Given the description of an element on the screen output the (x, y) to click on. 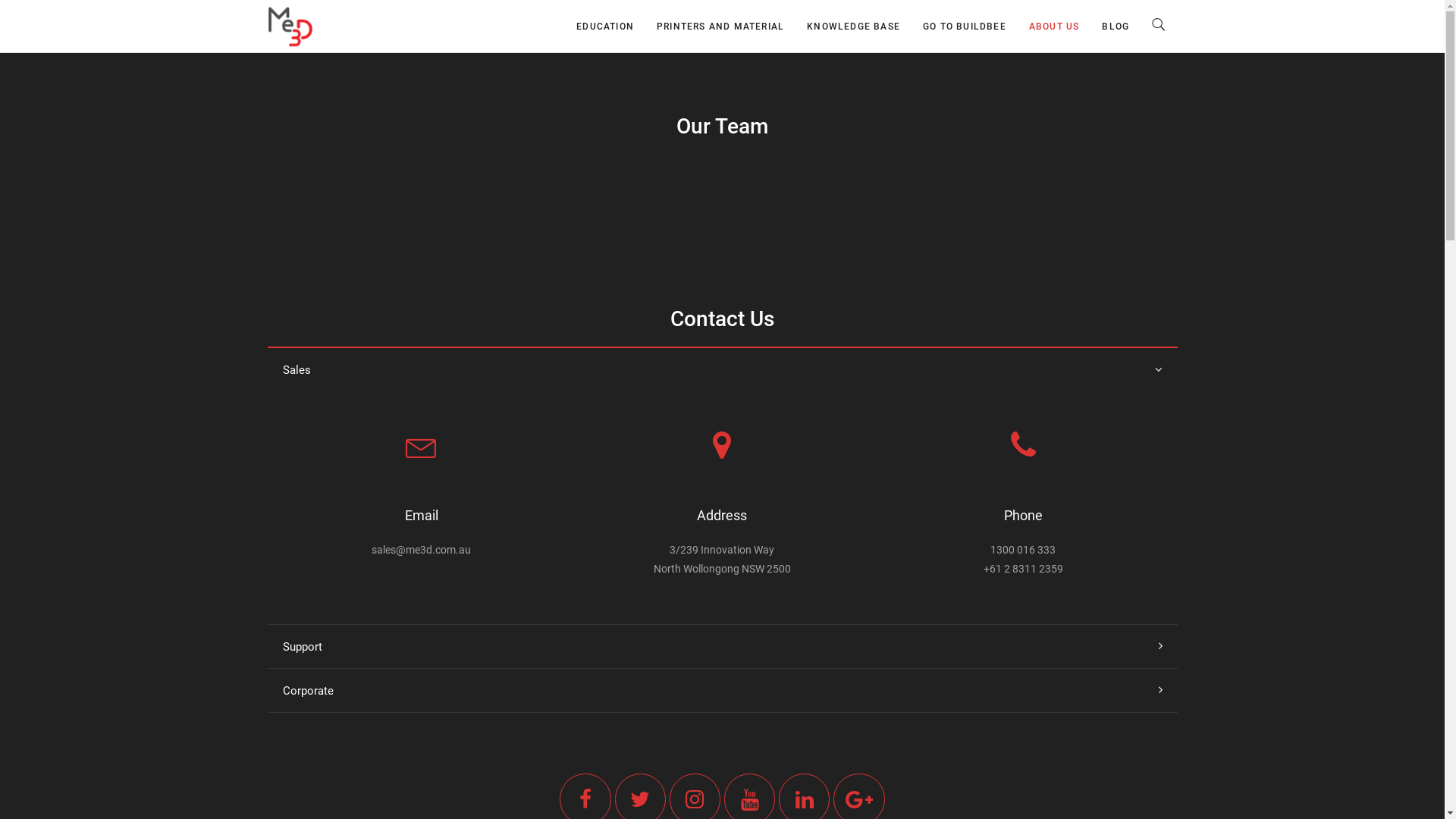
BLOG Element type: text (1115, 26)
KNOWLEDGE BASE Element type: text (853, 26)
GO TO BUILDBEE Element type: text (964, 26)
ABOUT US Element type: text (1054, 26)
EDUCATION Element type: text (604, 26)
PRINTERS AND MATERIAL Element type: text (720, 26)
